Given the description of an element on the screen output the (x, y) to click on. 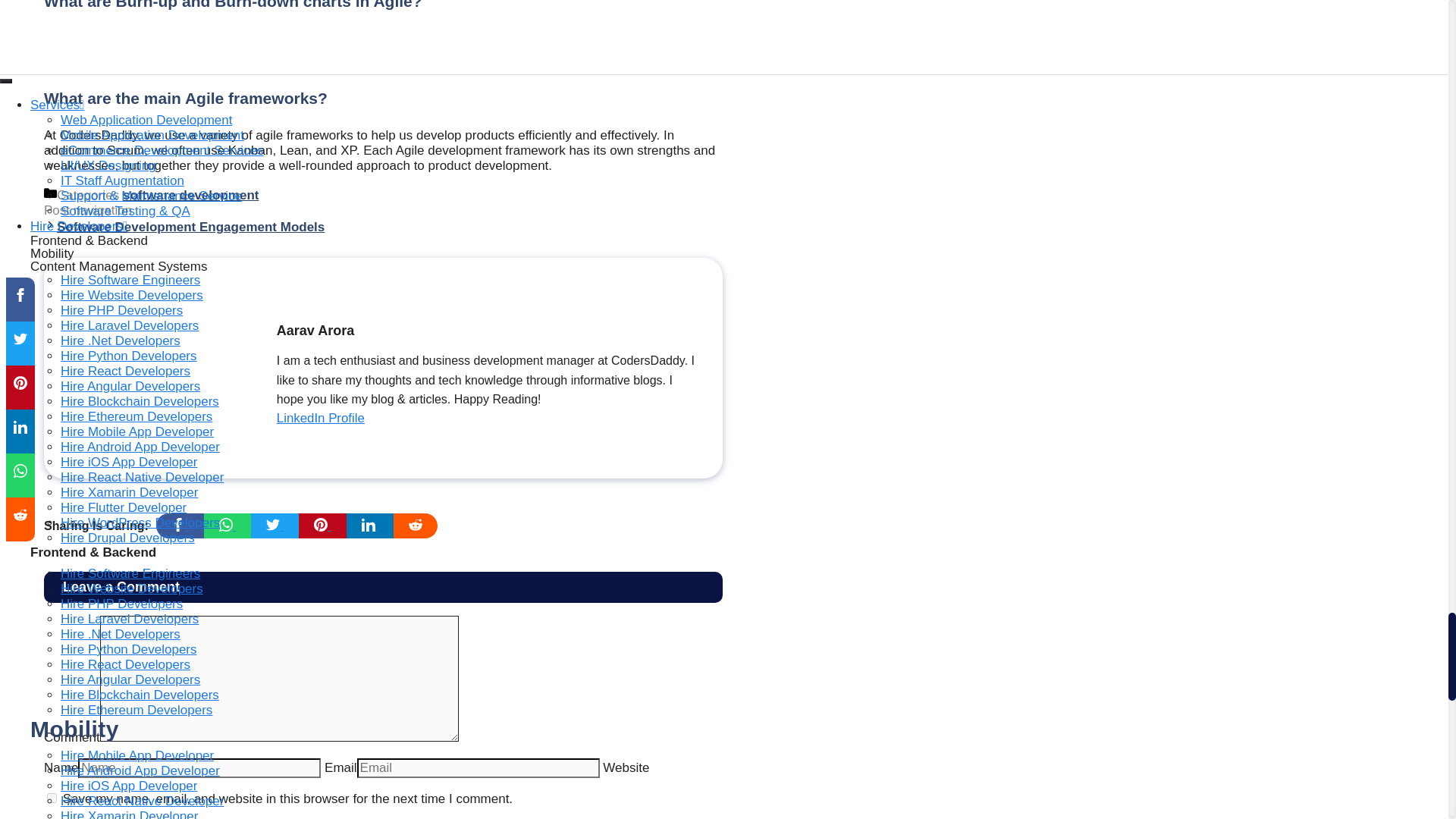
Next (190, 227)
Read more about this author (320, 418)
yes (51, 798)
